Given the description of an element on the screen output the (x, y) to click on. 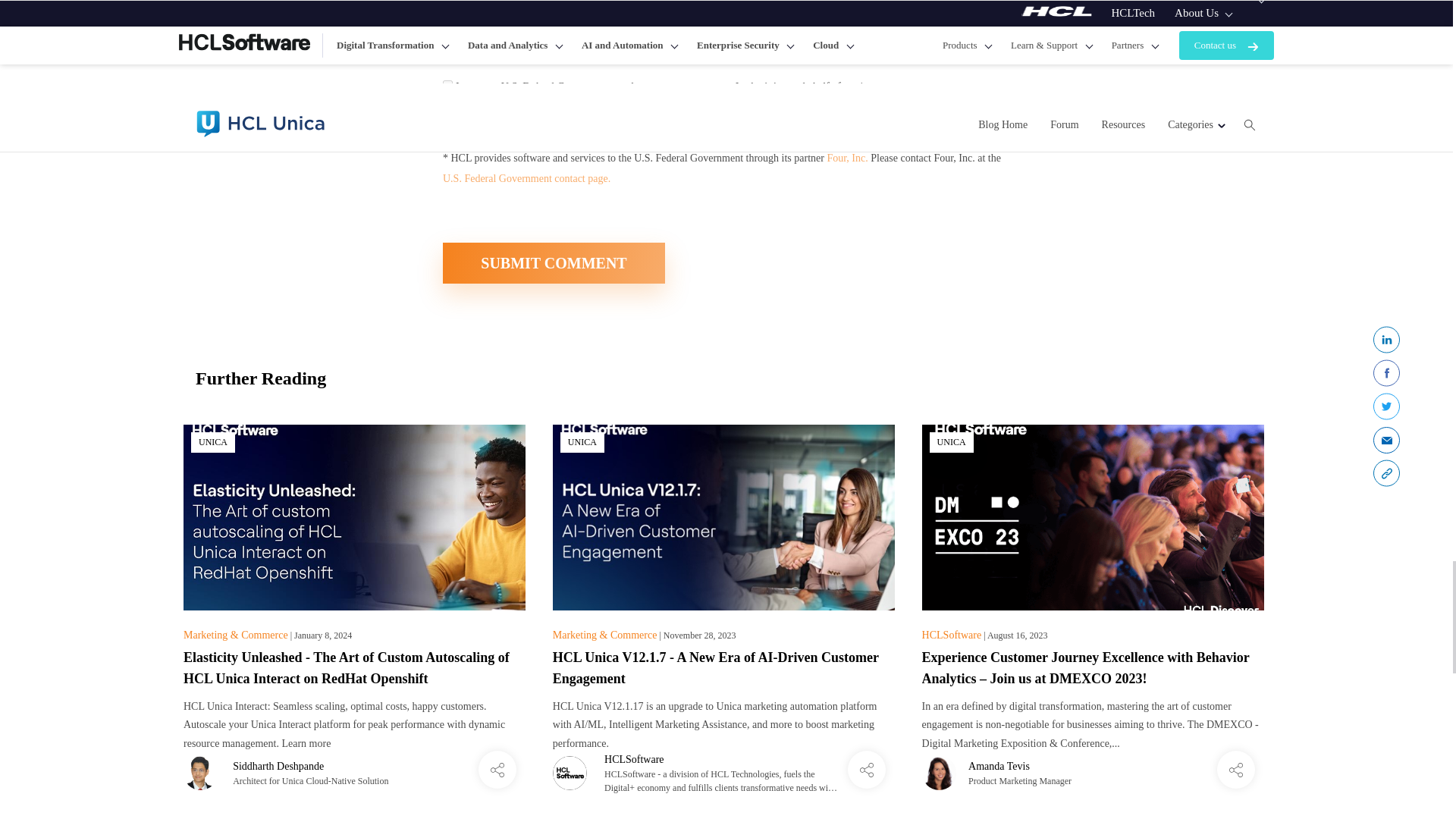
yes (447, 53)
Submit Comment (553, 262)
on (447, 116)
on (447, 85)
